Given the description of an element on the screen output the (x, y) to click on. 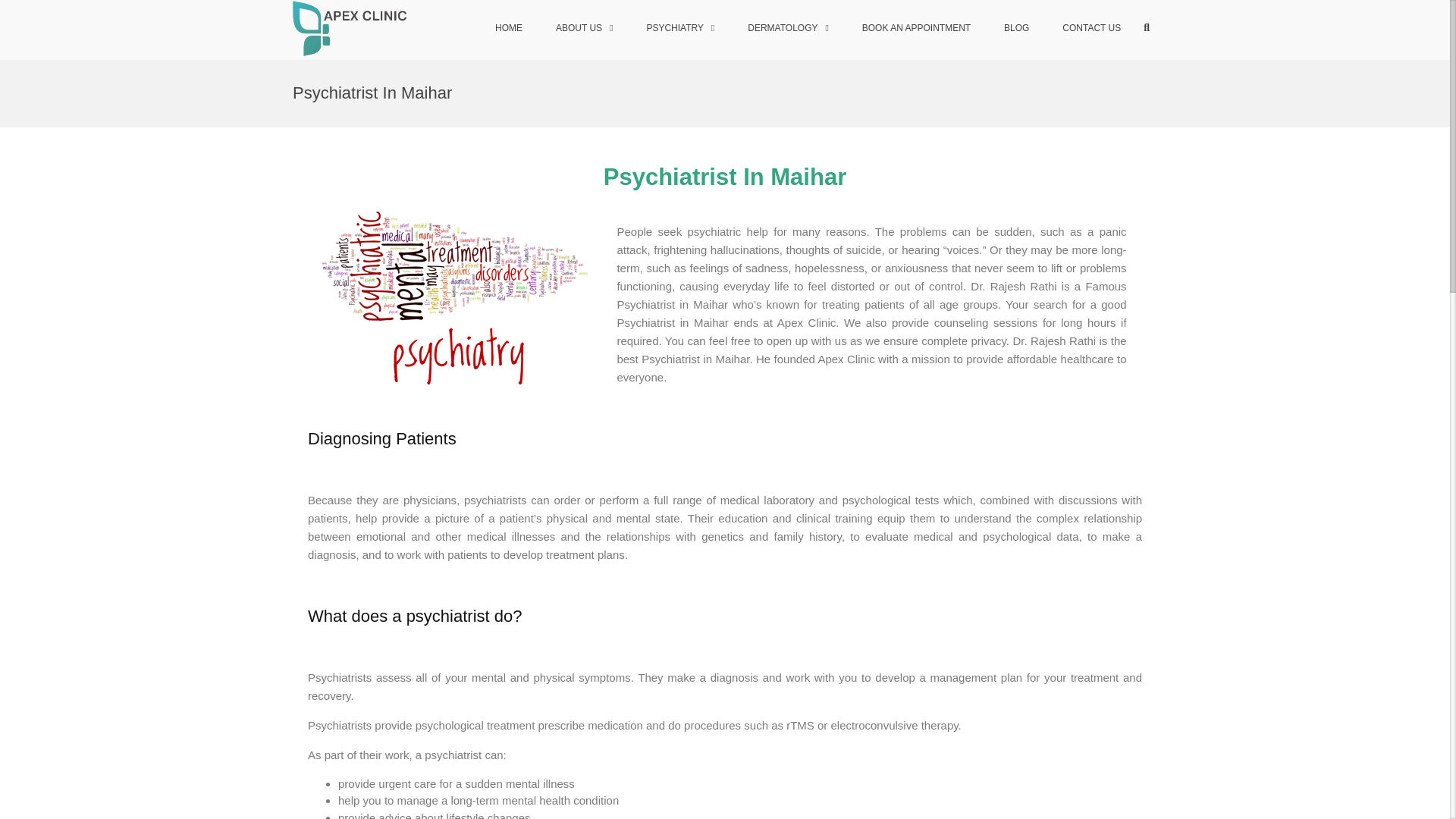
ABOUT US (584, 28)
psychiatrist (454, 297)
HOME (508, 28)
PSYCHIATRY (679, 28)
DERMATOLOGY (788, 28)
